Given the description of an element on the screen output the (x, y) to click on. 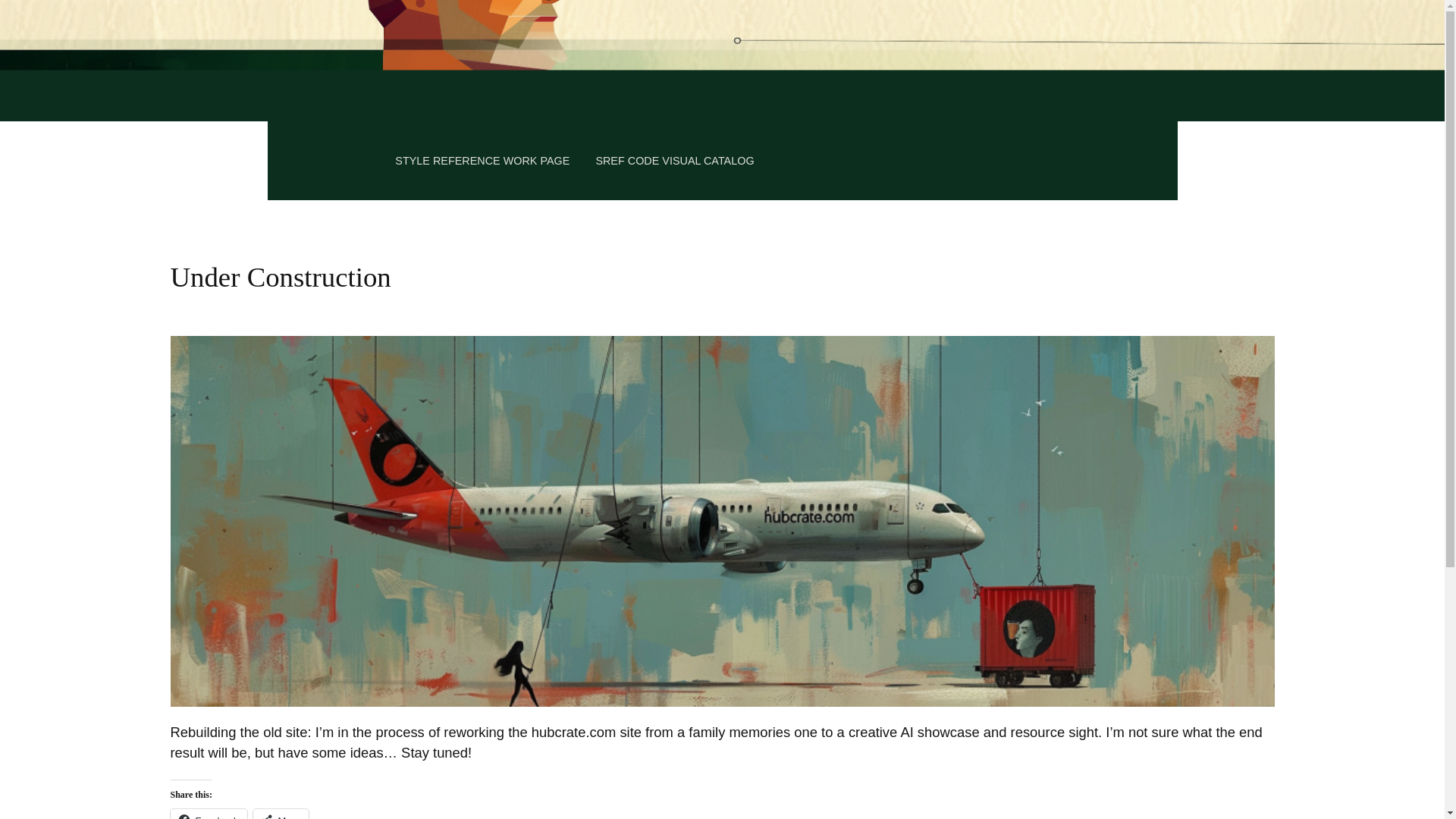
More (280, 814)
STYLE REFERENCE WORK PAGE (482, 160)
Click to share on Facebook (208, 814)
Facebook (208, 814)
SREF CODE VISUAL CATALOG (675, 160)
